Given the description of an element on the screen output the (x, y) to click on. 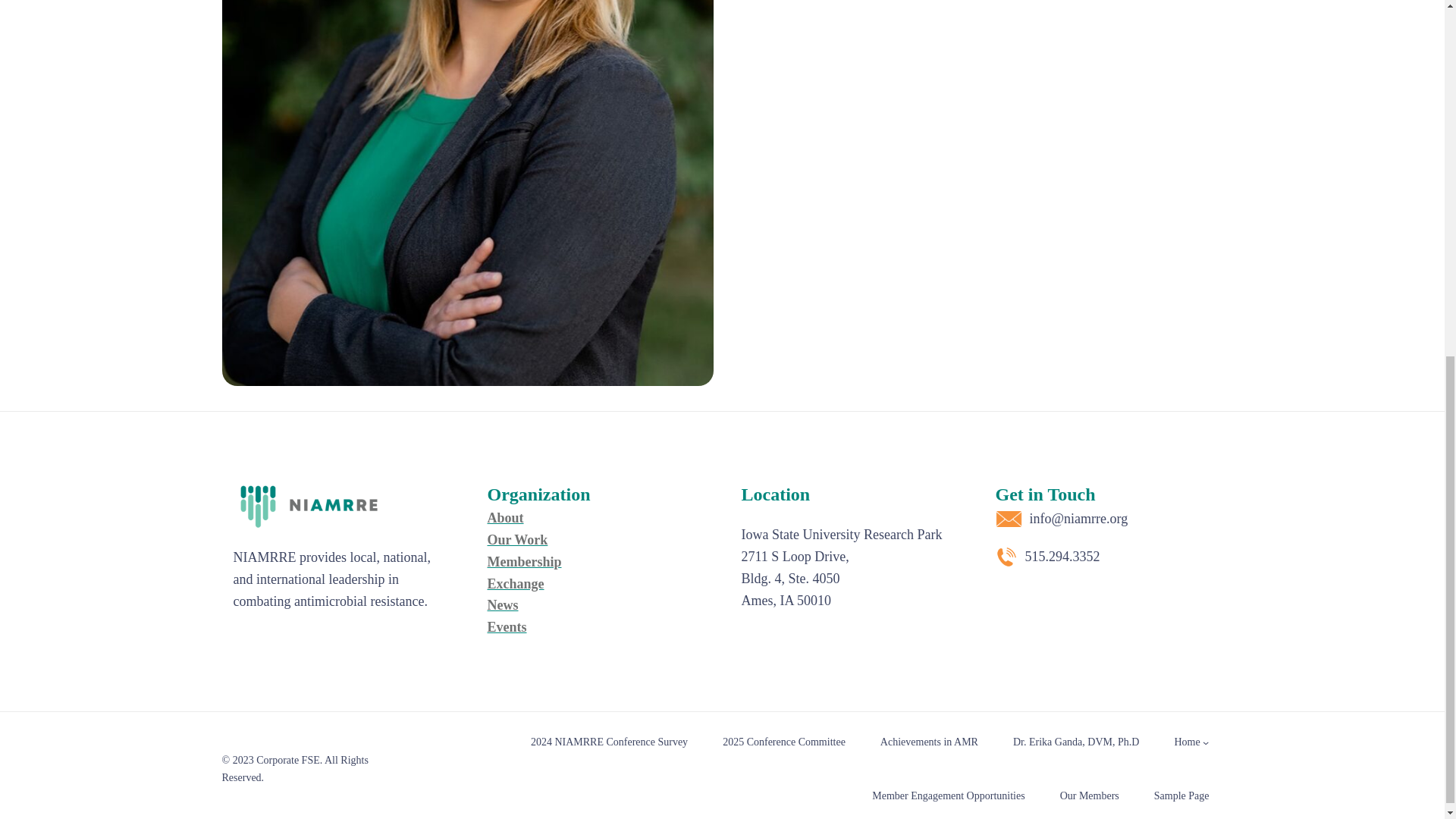
Membership (523, 561)
News (502, 604)
Our Work (516, 539)
About (504, 517)
Exchange (514, 583)
Events (505, 626)
